Given the description of an element on the screen output the (x, y) to click on. 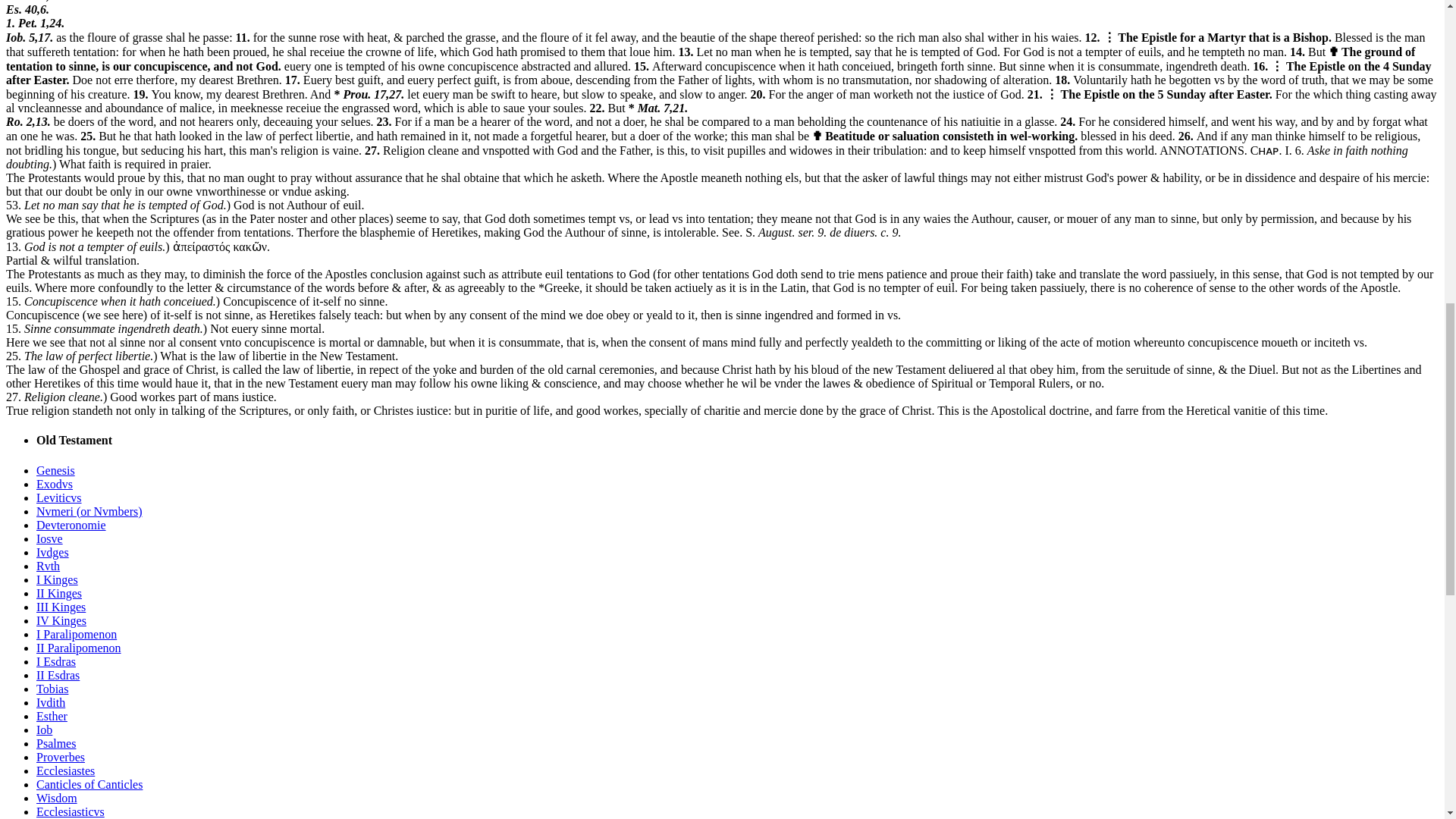
Exodvs (54, 483)
Genesis (55, 470)
Devteronomie (71, 524)
Leviticvs (58, 497)
